Given the description of an element on the screen output the (x, y) to click on. 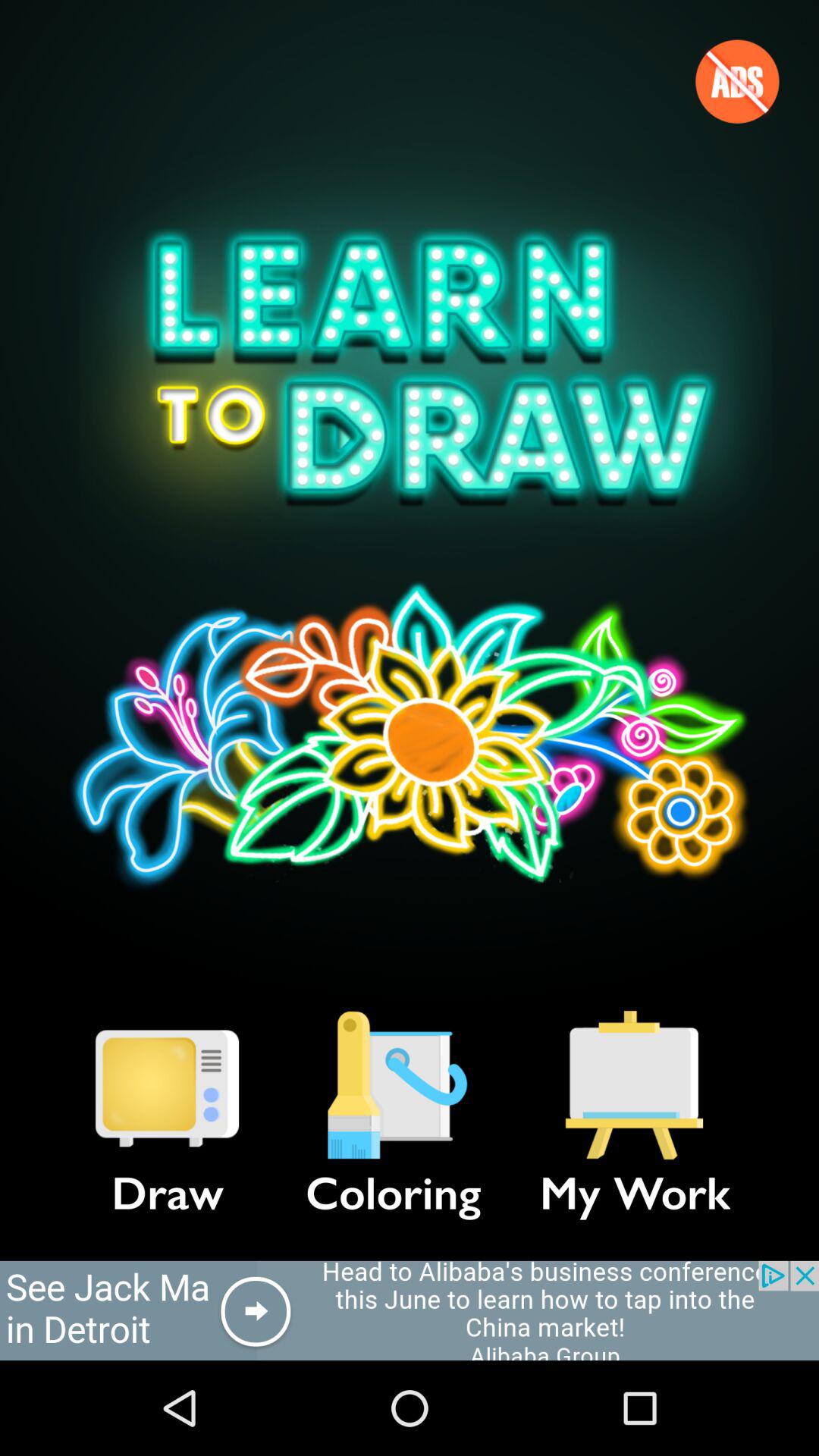
open icon above the coloring (393, 1085)
